Given the description of an element on the screen output the (x, y) to click on. 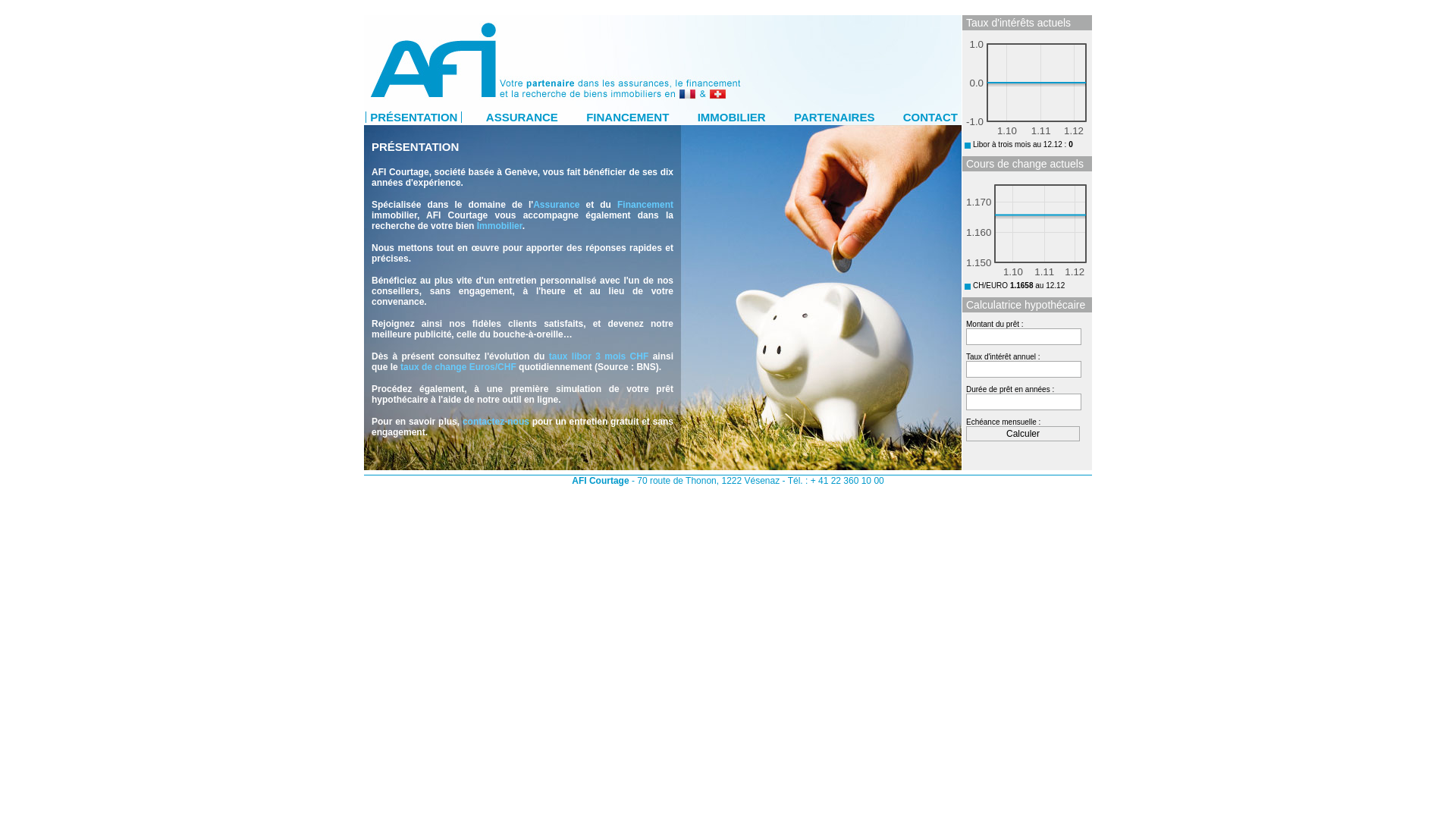
CONTACT Element type: text (930, 116)
Calculer Element type: text (1022, 433)
Immobilier Element type: text (499, 225)
Financement Element type: text (645, 204)
1.10
1.11
1.12
1.150
1.160
1.170 Element type: text (1027, 227)
1.10
1.11
1.12
-1.0
0.0
1.0 Element type: text (1027, 86)
IMMOBILIER Element type: text (731, 116)
taux de change Euros/CHF Element type: text (458, 366)
contactez-nous Element type: text (495, 421)
taux libor 3 mois CHF Element type: text (599, 356)
PARTENAIRES Element type: text (833, 116)
ASSURANCE Element type: text (522, 116)
Assurance Element type: text (556, 204)
FINANCEMENT Element type: text (627, 116)
